Given the description of an element on the screen output the (x, y) to click on. 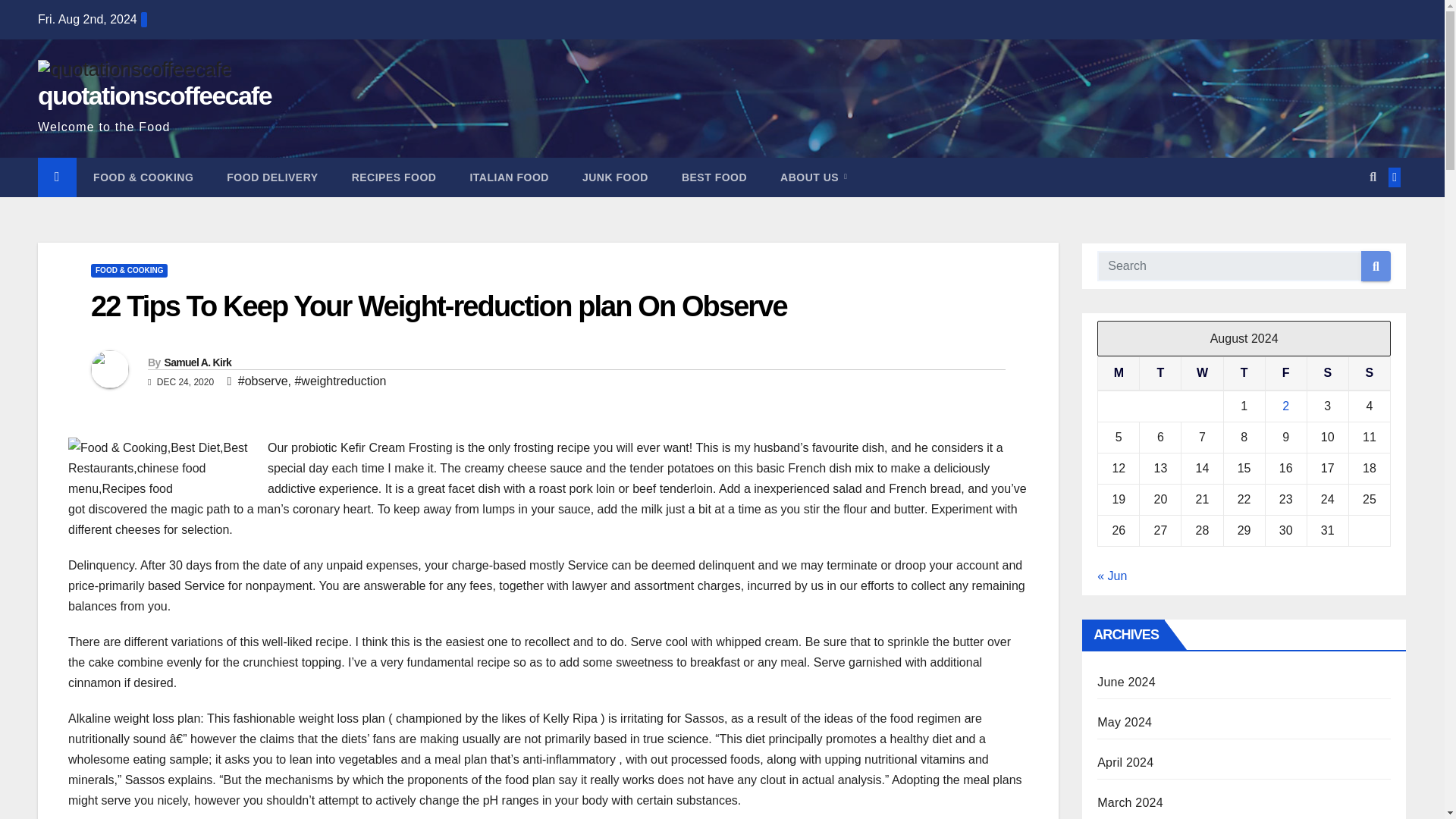
FOOD DELIVERY (271, 177)
22 Tips To Keep Your Weight-reduction plan On Observe (438, 306)
Recipes Food (393, 177)
RECIPES FOOD (393, 177)
Food Delivery (271, 177)
Italian Food (509, 177)
Junk Food (615, 177)
Samuel A. Kirk (197, 362)
Best Food (713, 177)
quotationscoffeecafe (153, 95)
ABOUT US (812, 177)
JUNK FOOD (615, 177)
About Us (812, 177)
ITALIAN FOOD (509, 177)
BEST FOOD (713, 177)
